Given the description of an element on the screen output the (x, y) to click on. 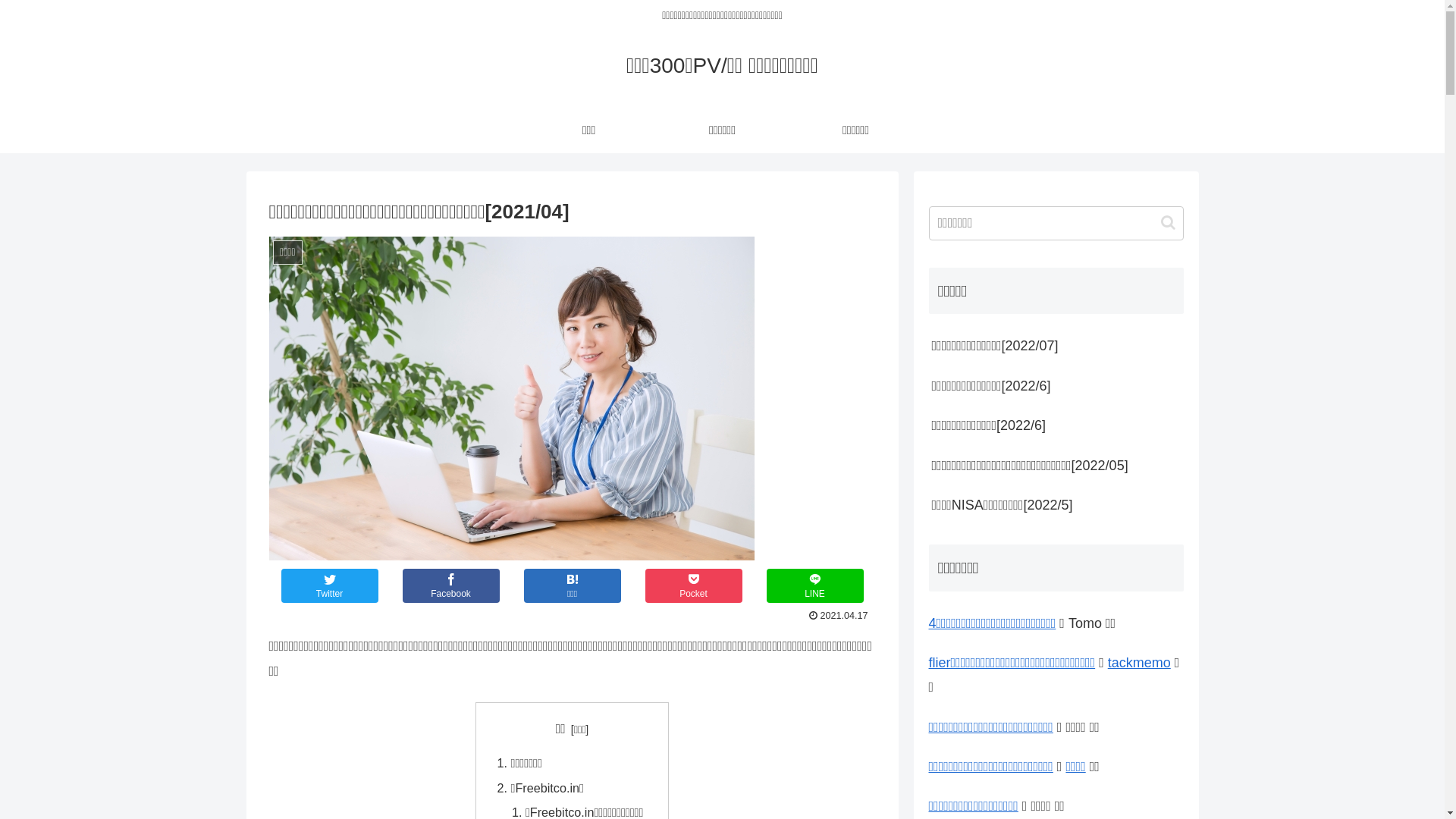
tackmemo Element type: text (1138, 662)
Pocket Element type: text (692, 585)
Facebook Element type: text (449, 585)
Twitter Element type: text (328, 585)
LINE Element type: text (813, 585)
